Given the description of an element on the screen output the (x, y) to click on. 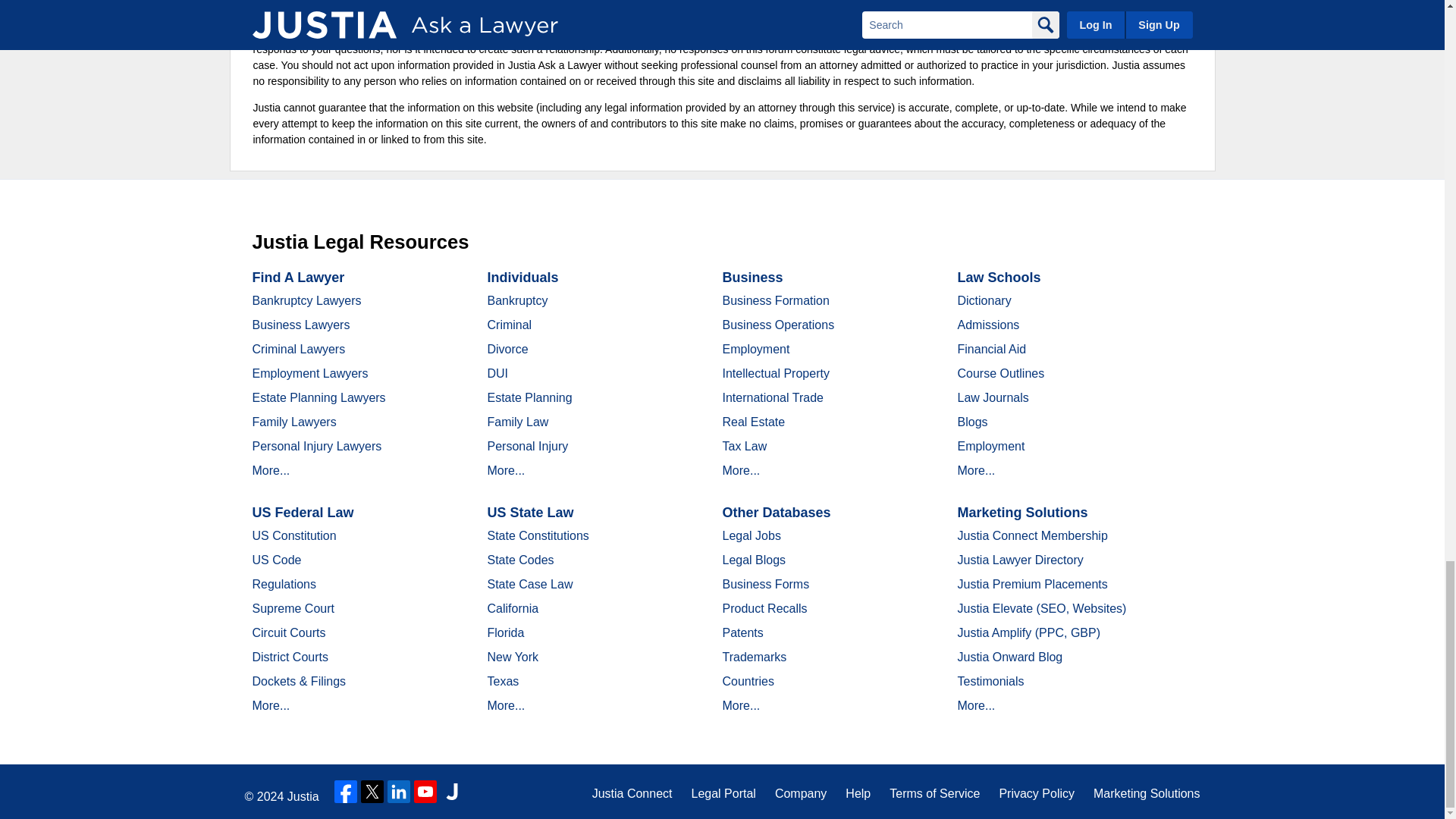
YouTube (424, 791)
Twitter (372, 791)
Facebook (345, 791)
Justia Lawyer Directory (452, 791)
LinkedIn (398, 791)
